Given the description of an element on the screen output the (x, y) to click on. 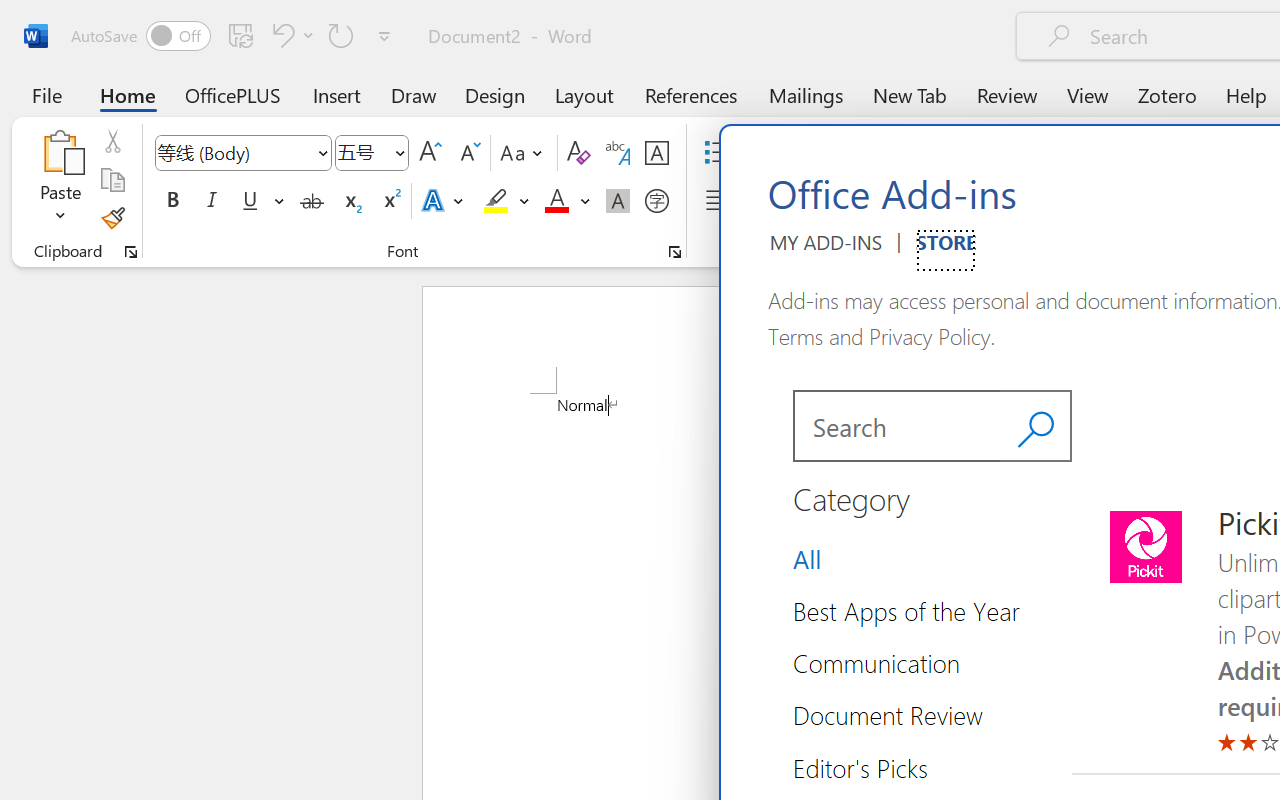
Text Highlight Color (506, 201)
Category Group All selected 1 of 14 (814, 558)
Design (495, 94)
Bold (172, 201)
Character Border (656, 153)
